Given the description of an element on the screen output the (x, y) to click on. 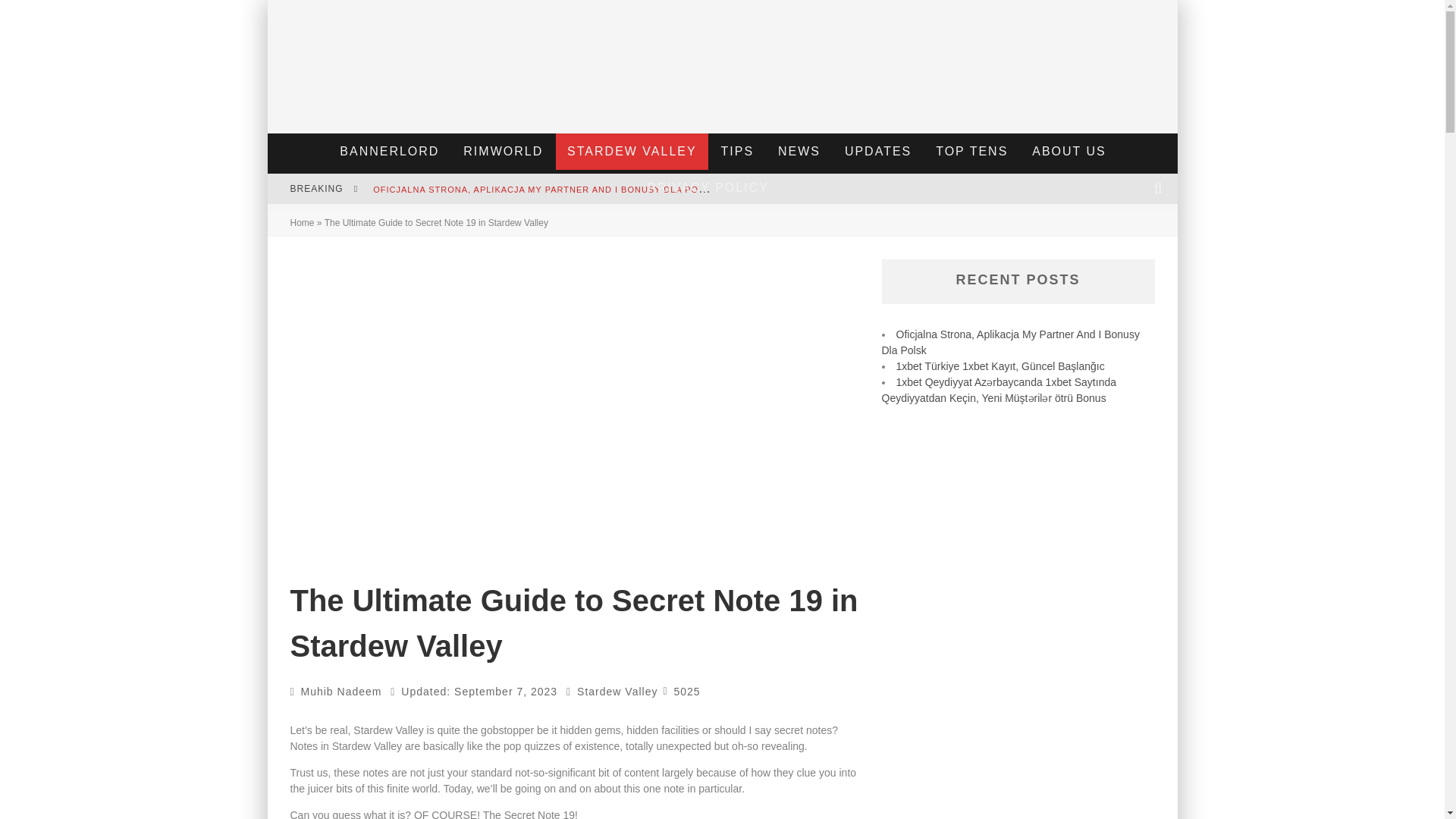
UPDATES (877, 151)
BANNERLORD (389, 151)
STARDEW VALLEY (631, 151)
View all posts in Stardew Valley (617, 691)
TIPS (737, 151)
RIMWORLD (502, 151)
NEWS (799, 151)
